Given the description of an element on the screen output the (x, y) to click on. 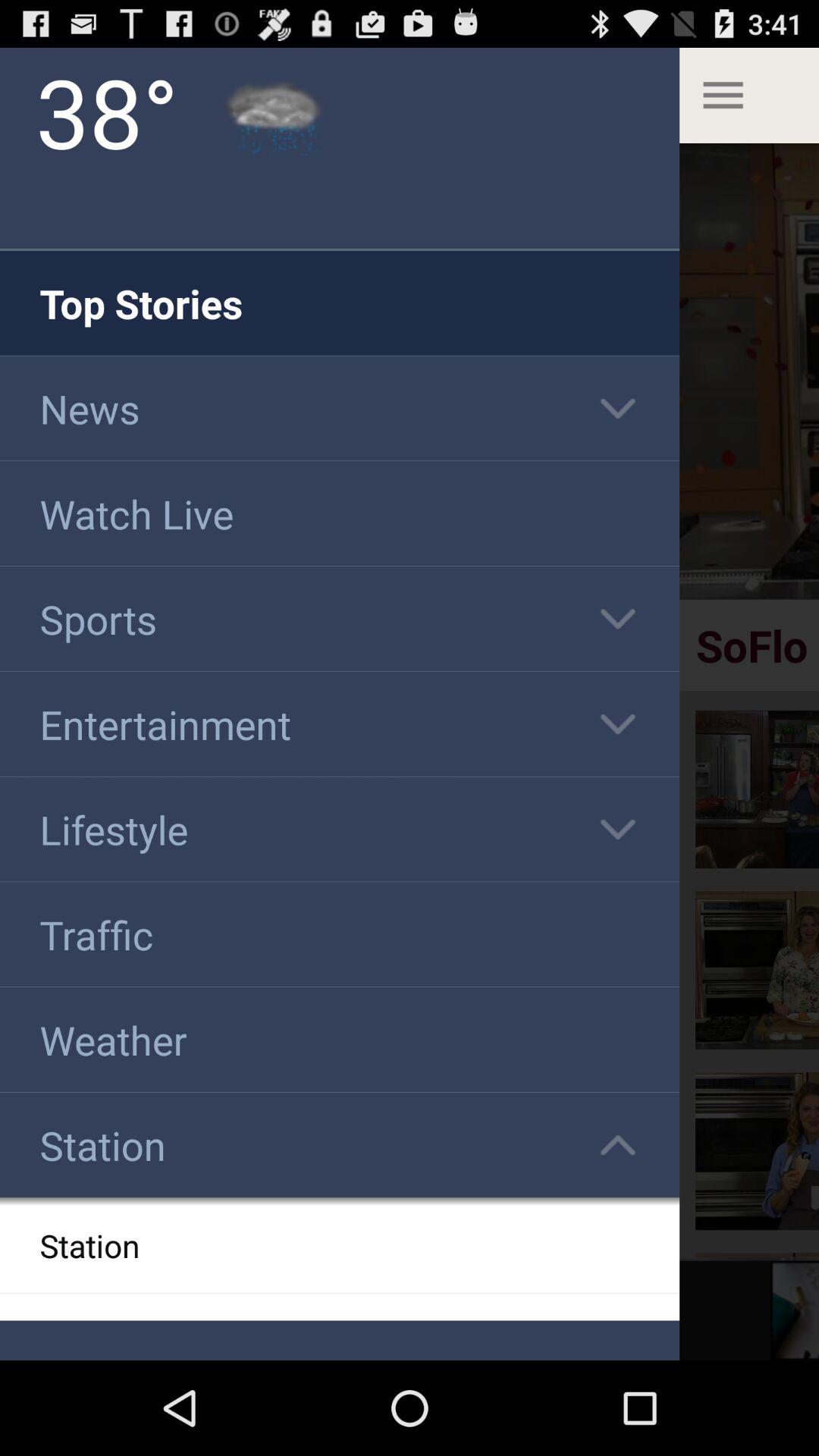
click on the image beside the option traffic (757, 970)
click on down arrow beside the entertainment (617, 723)
select the down arrow button beside lifestyle (617, 829)
select the setting icon from top right corner (749, 95)
